Given the description of an element on the screen output the (x, y) to click on. 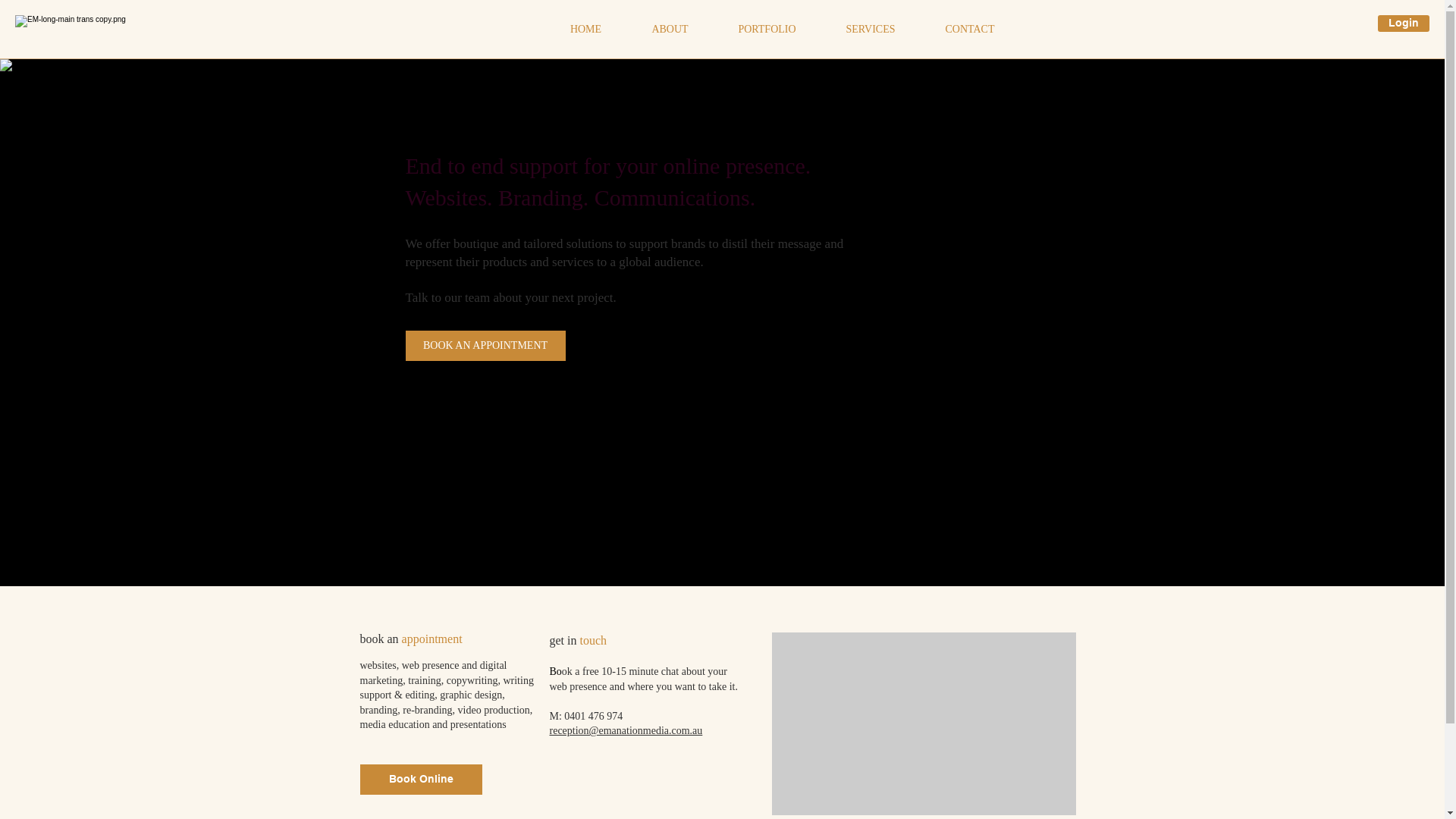
SERVICES Element type: text (869, 29)
reception@emanationmedia.com.au Element type: text (625, 730)
Login Element type: text (1403, 23)
Book Online Element type: text (420, 779)
CONTACT Element type: text (969, 29)
BOOK AN APPOINTMENT Element type: text (484, 345)
Embedded Content Element type: hover (923, 723)
HOME Element type: text (585, 29)
